Given the description of an element on the screen output the (x, y) to click on. 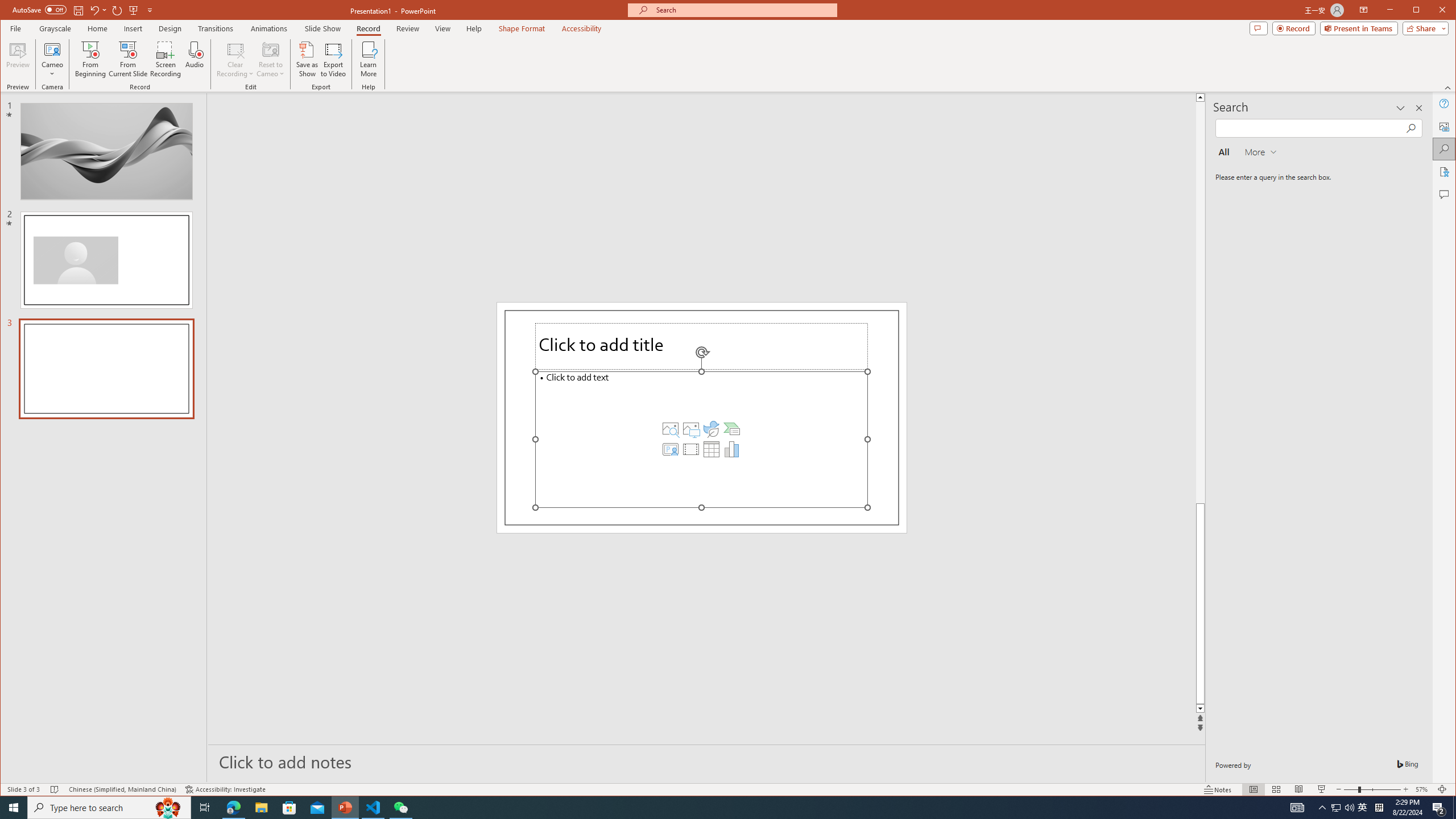
Insert a SmartArt Graphic (731, 428)
From Beginning... (90, 59)
Stock Images (670, 428)
